Given the description of an element on the screen output the (x, y) to click on. 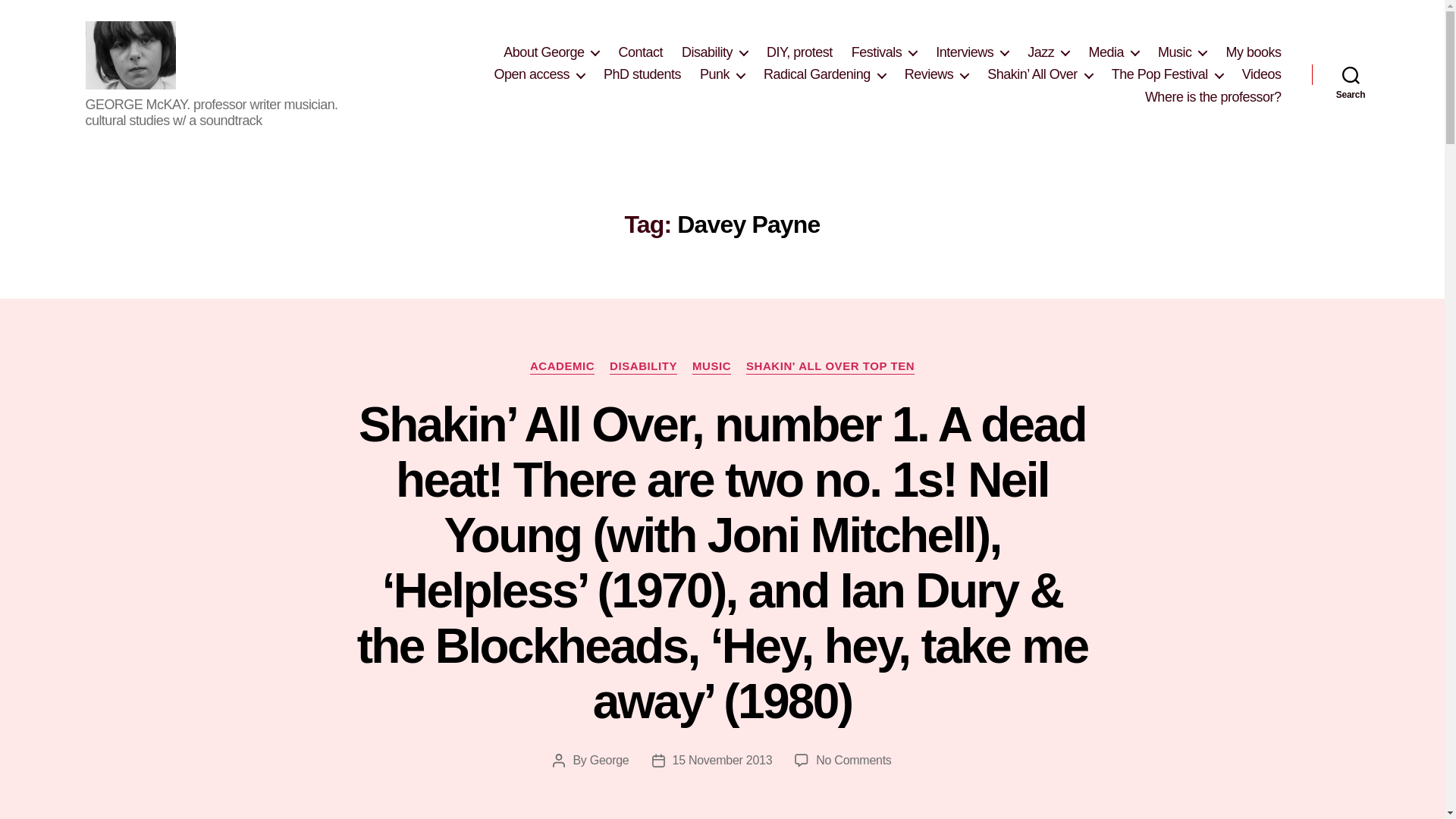
DIY, protest (799, 53)
Jazz (1047, 53)
Interviews (972, 53)
Disability (714, 53)
Festivals (884, 53)
Contact (639, 53)
About George (550, 53)
